Given the description of an element on the screen output the (x, y) to click on. 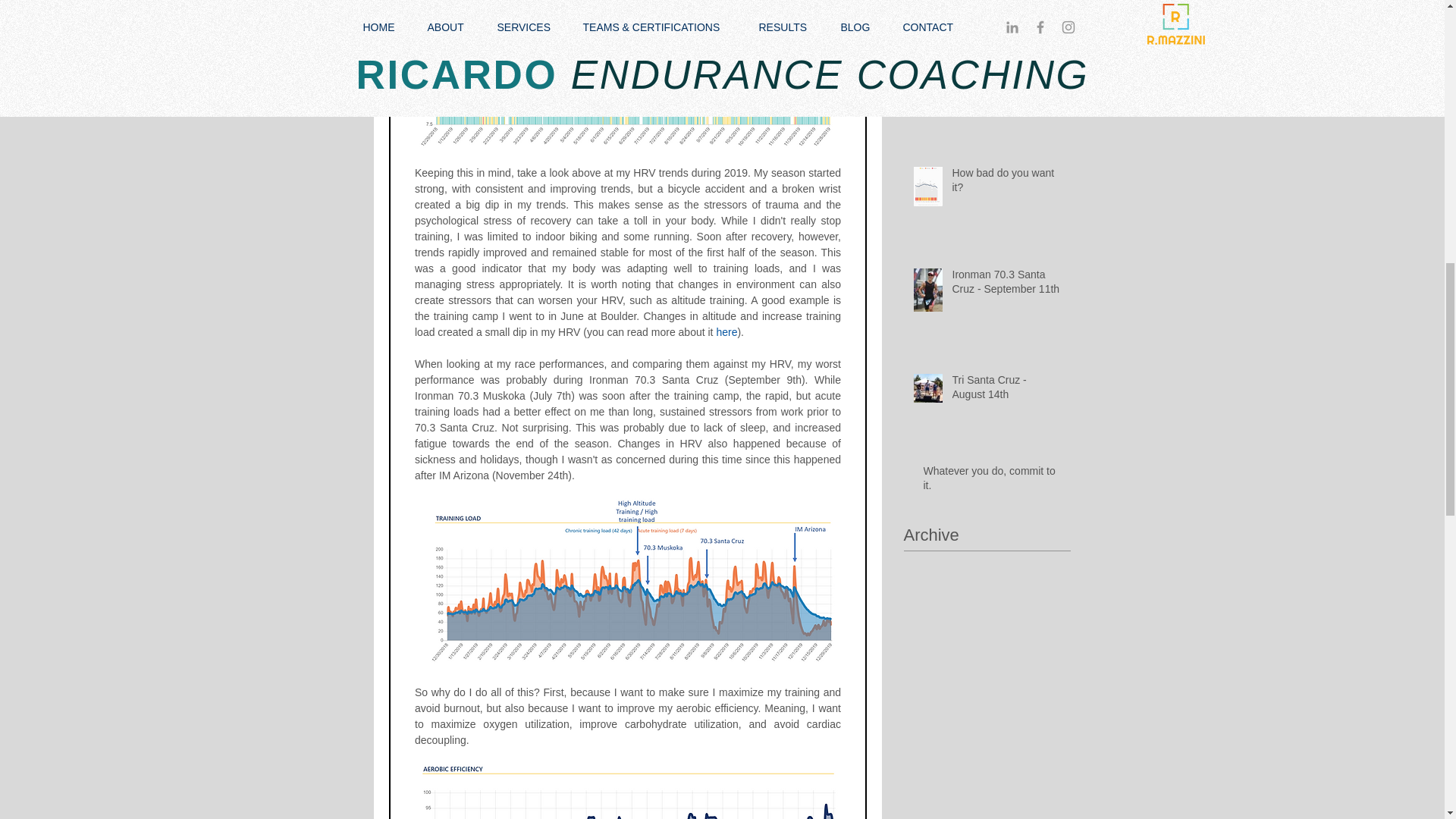
How bad do you want it? (1006, 183)
here (726, 331)
Speed Hound Recovery System Review (1006, 99)
Whatever you do, commit to it. (992, 481)
About the Worlds and Racing (1006, 9)
Tri Santa Cruz - August 14th (1006, 390)
Ironman 70.3 Santa Cruz - September 11th (1006, 285)
